Given the description of an element on the screen output the (x, y) to click on. 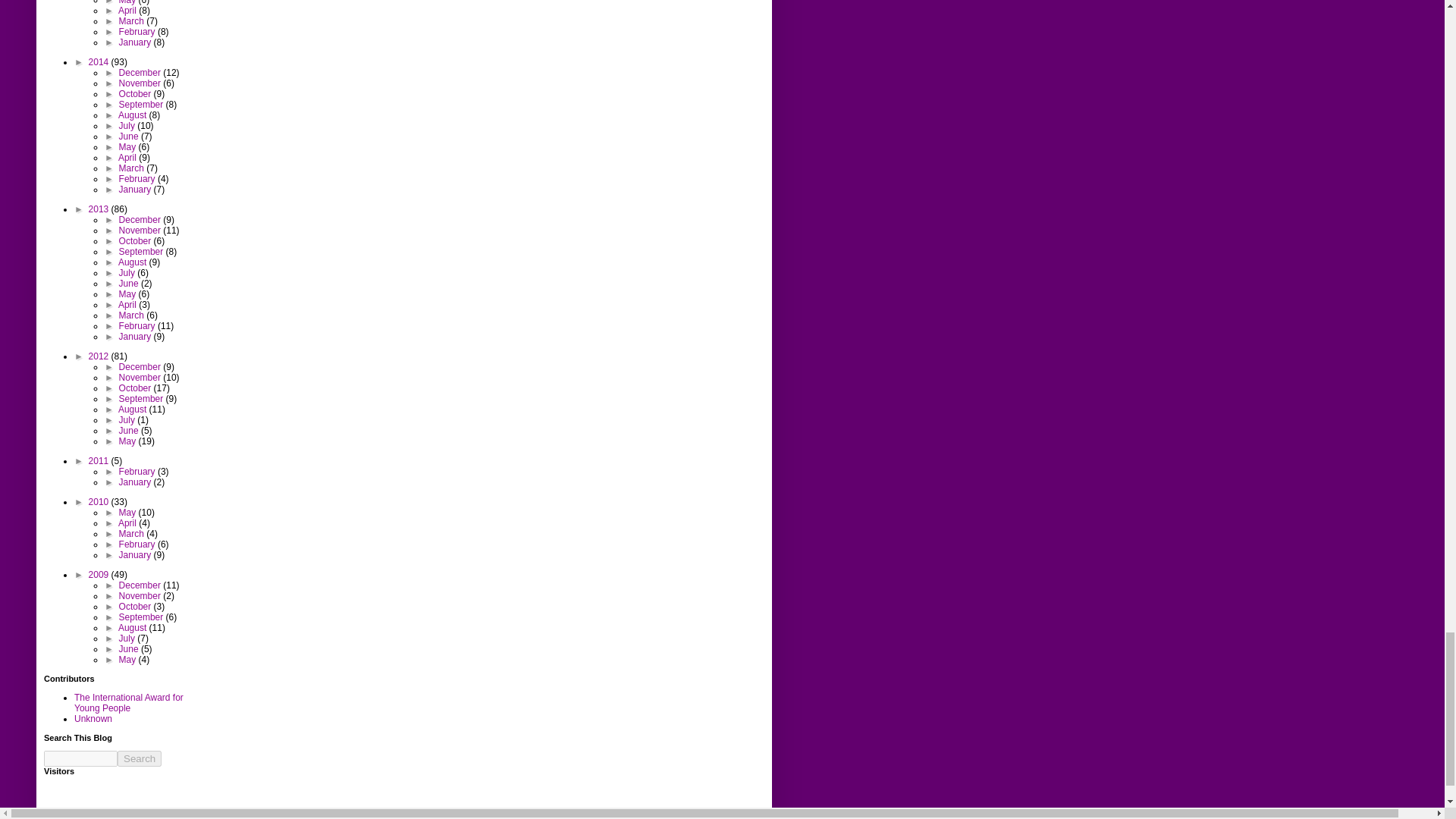
Search (139, 758)
search (139, 758)
search (80, 758)
Search (139, 758)
